Given the description of an element on the screen output the (x, y) to click on. 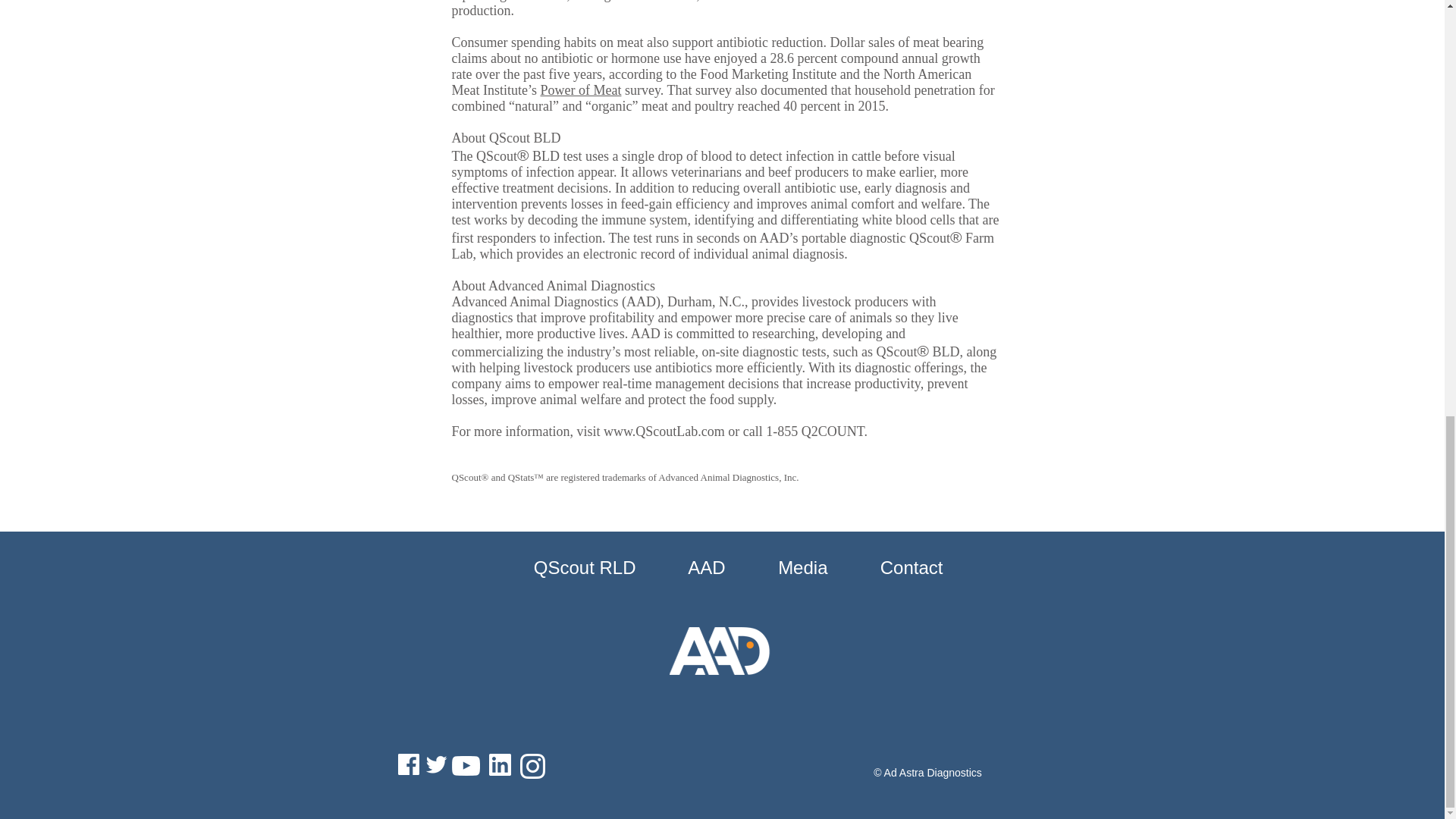
Contact (892, 567)
AAD (687, 567)
Media (783, 567)
Power of Meat (580, 89)
QScout RLD (568, 567)
www.QScoutLab.com (664, 431)
